Given the description of an element on the screen output the (x, y) to click on. 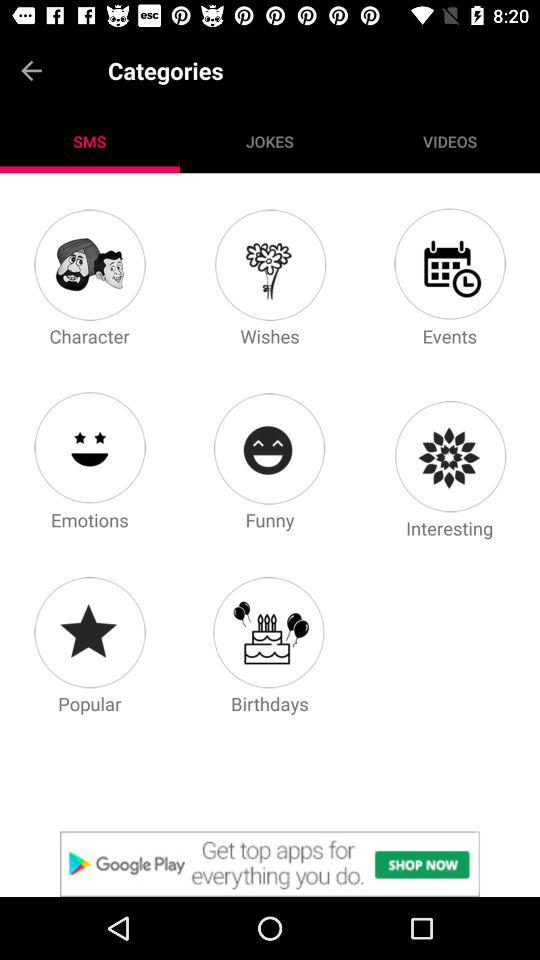
birthday (269, 632)
